Given the description of an element on the screen output the (x, y) to click on. 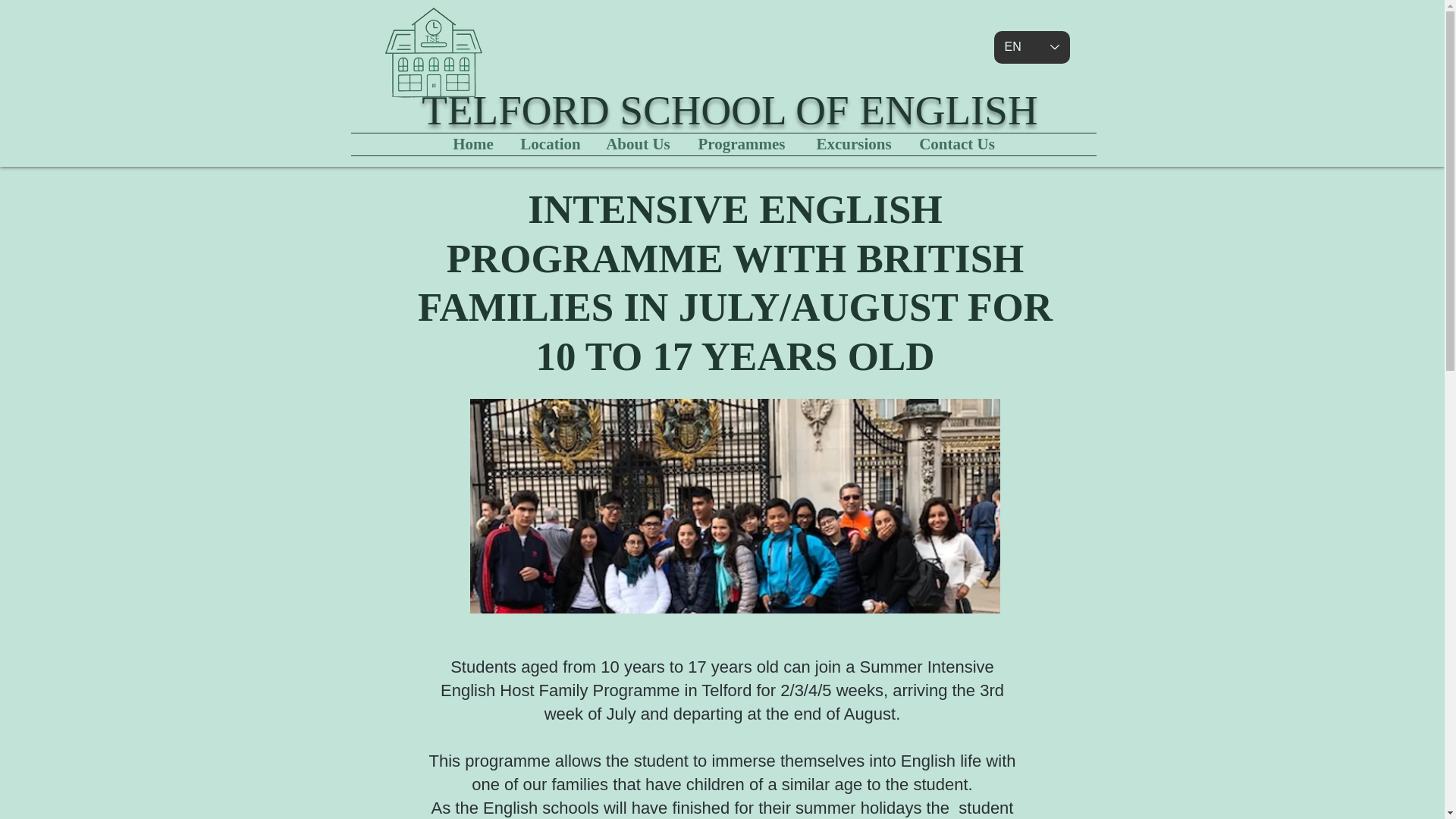
Home (472, 144)
TELFORD SCHOOL OF ENGLISH (729, 109)
Programmes (742, 144)
Location (550, 144)
Contact Us (957, 144)
Excursions (852, 144)
About Us (638, 144)
